Given the description of an element on the screen output the (x, y) to click on. 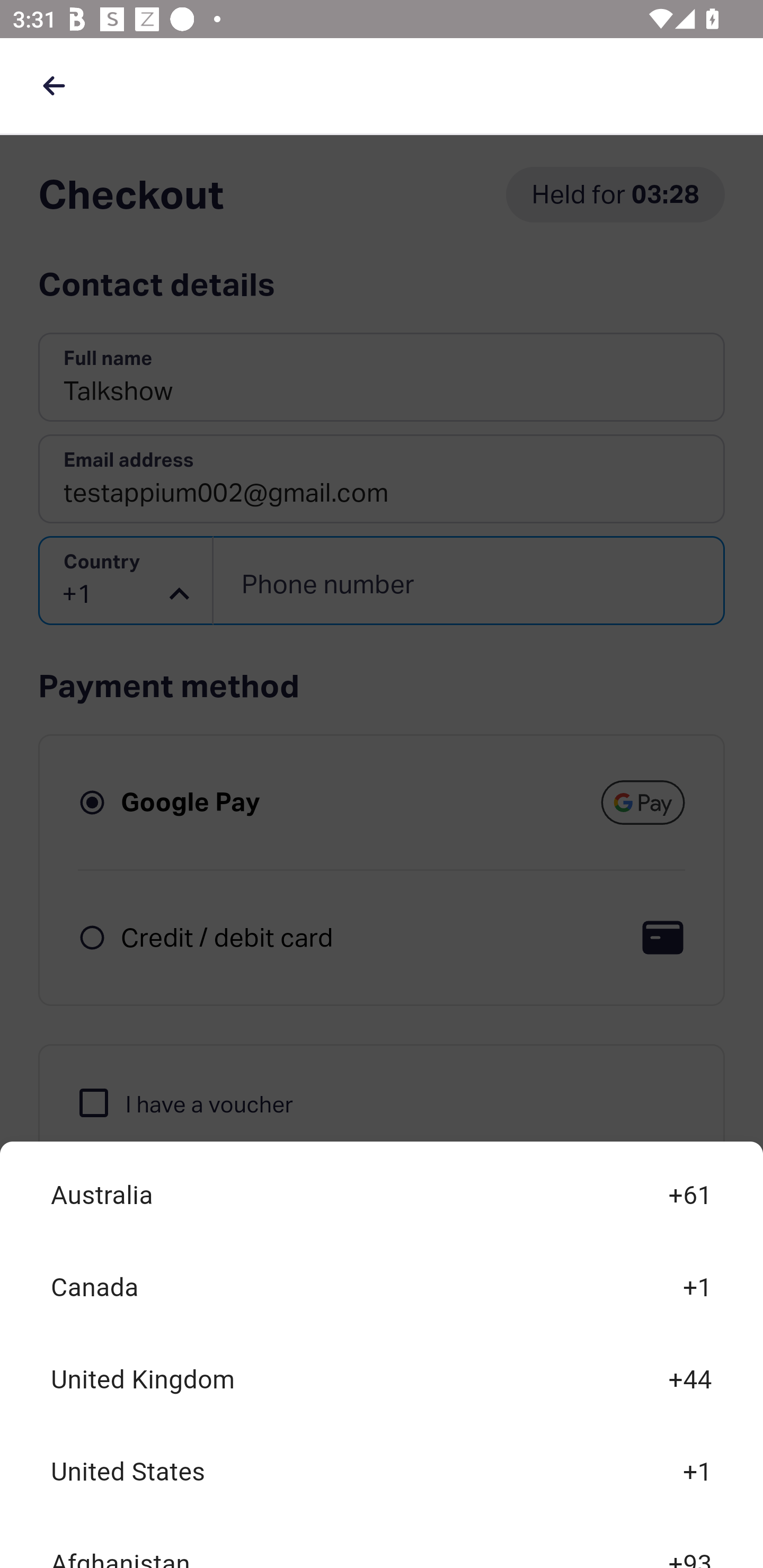
back button (53, 85)
Australia +61 (381, 1196)
Canada +1 (381, 1287)
United Kingdom +44 (381, 1379)
United States +1 (381, 1472)
